Given the description of an element on the screen output the (x, y) to click on. 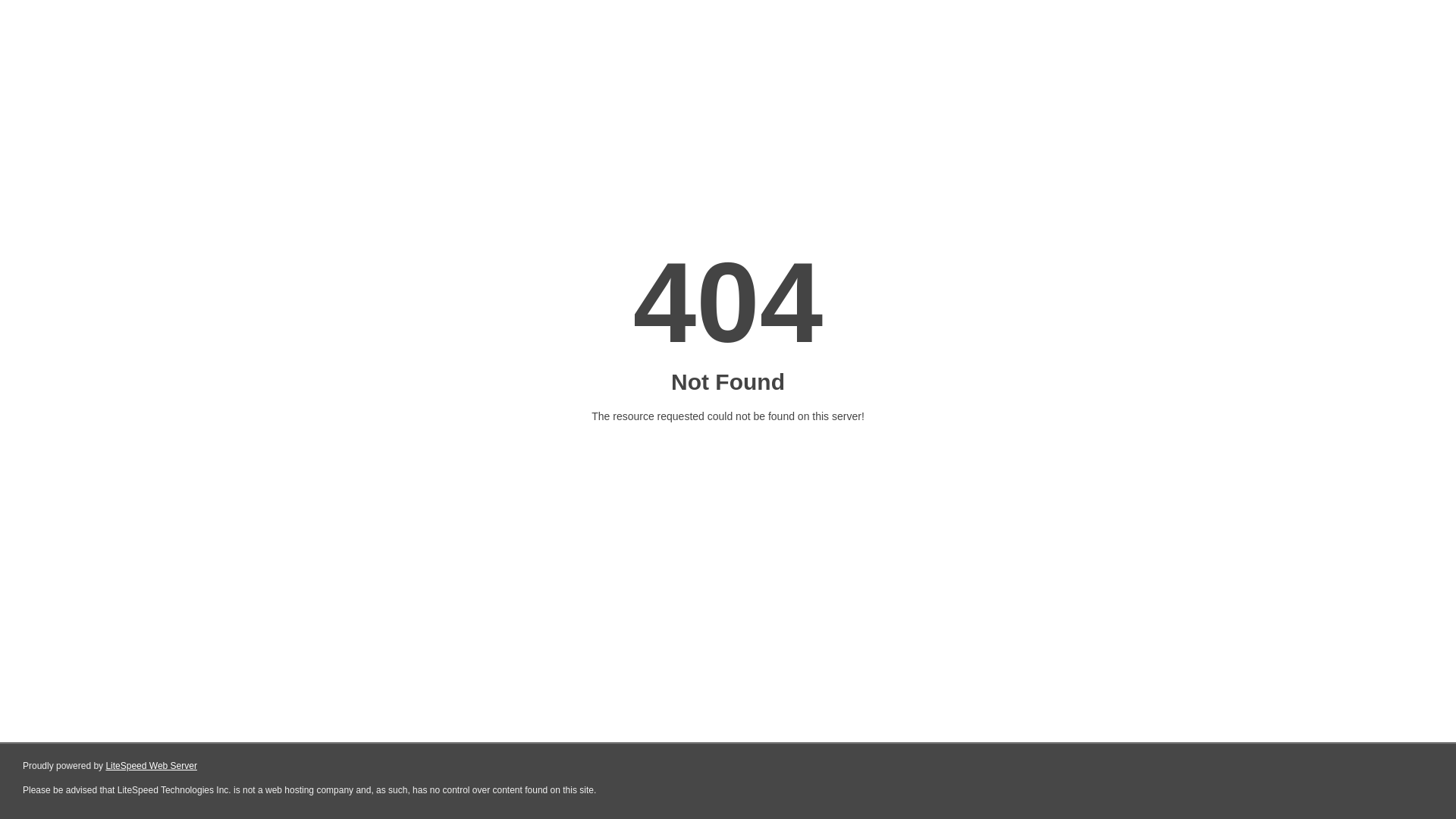
LiteSpeed Web Server Element type: text (151, 765)
